Given the description of an element on the screen output the (x, y) to click on. 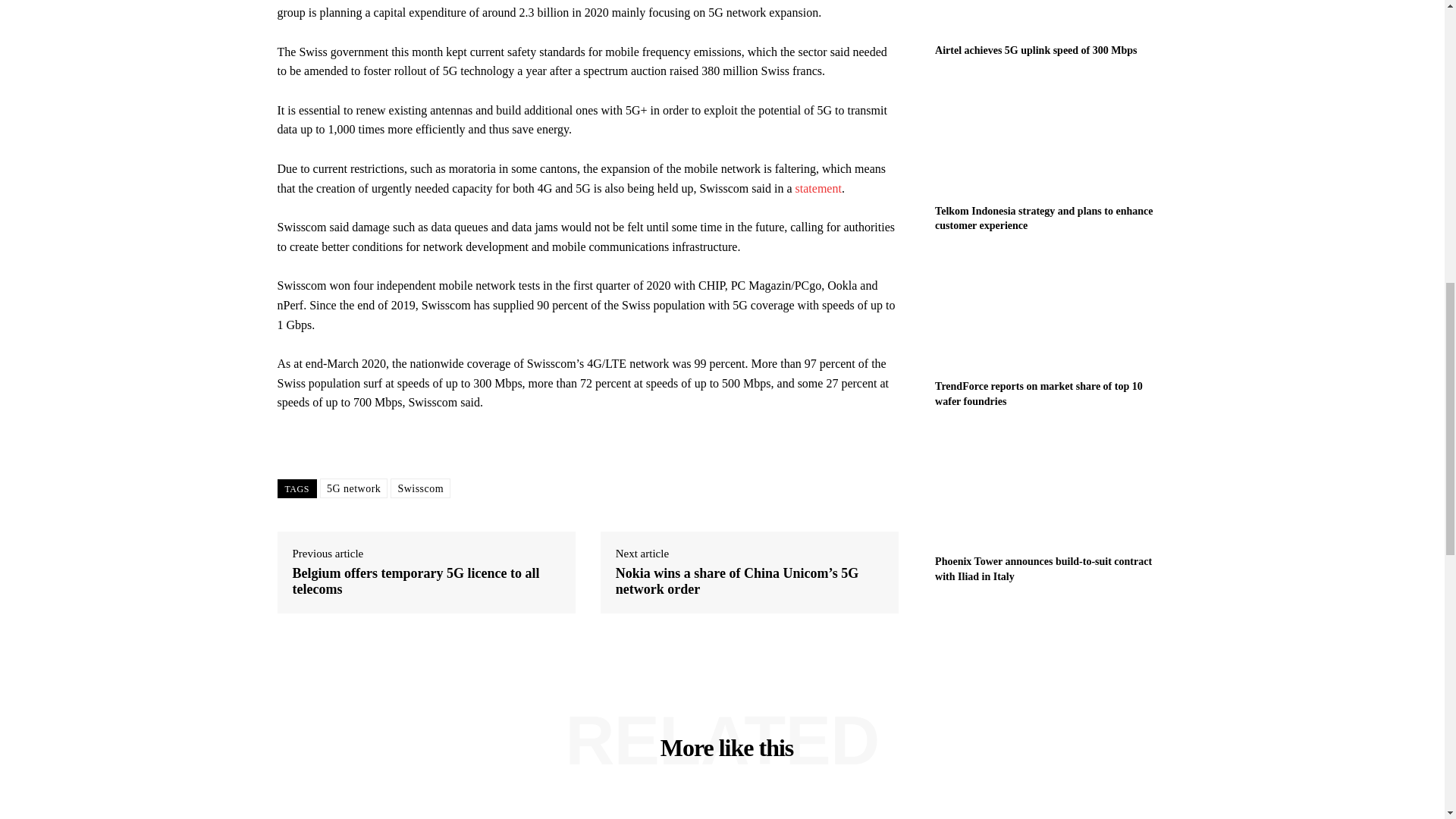
TrendForce reports on market share of top 10 wafer foundries (1038, 393)
Airtel achieves 5G uplink speed of 300 Mbps (1035, 50)
Swisscom (419, 487)
TrendForce reports on market share of top 10 wafer foundries (1038, 393)
statement (817, 187)
Airtel achieves 5G uplink speed of 300 Mbps (1035, 50)
TrendForce reports on market share of top 10 wafer foundries (1050, 311)
Airtel achieves 5G uplink speed of 300 Mbps (1050, 16)
